Given the description of an element on the screen output the (x, y) to click on. 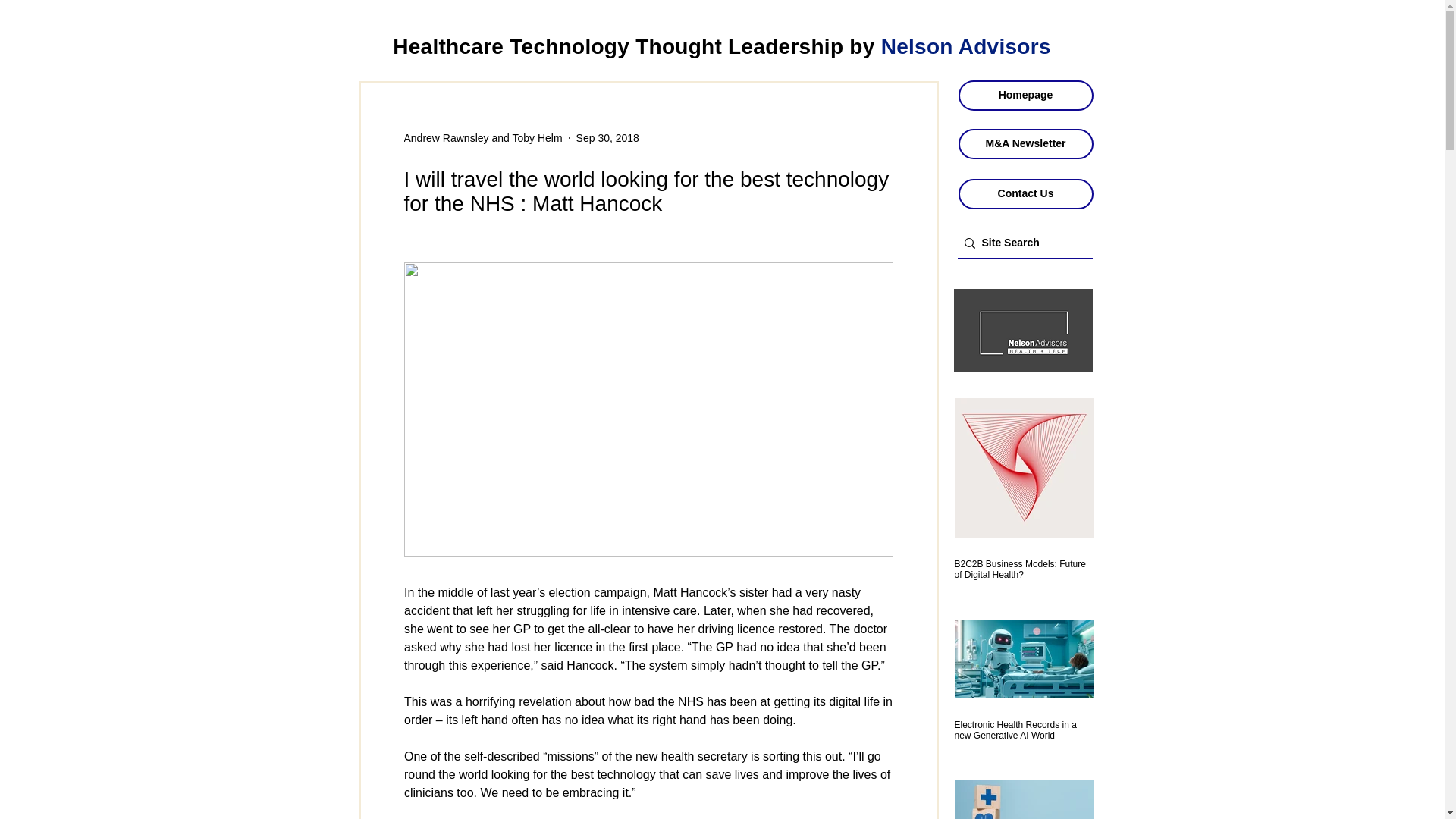
Sep 30, 2018 (607, 137)
B2C2B Business Models: Future of Digital Health? (1023, 568)
Electronic Health Records in a new Generative AI World (1023, 730)
Nelson Advisors (965, 46)
Homepage (1025, 95)
Andrew Rawnsley and Toby Helm (482, 138)
Contact Us (1025, 194)
